Given the description of an element on the screen output the (x, y) to click on. 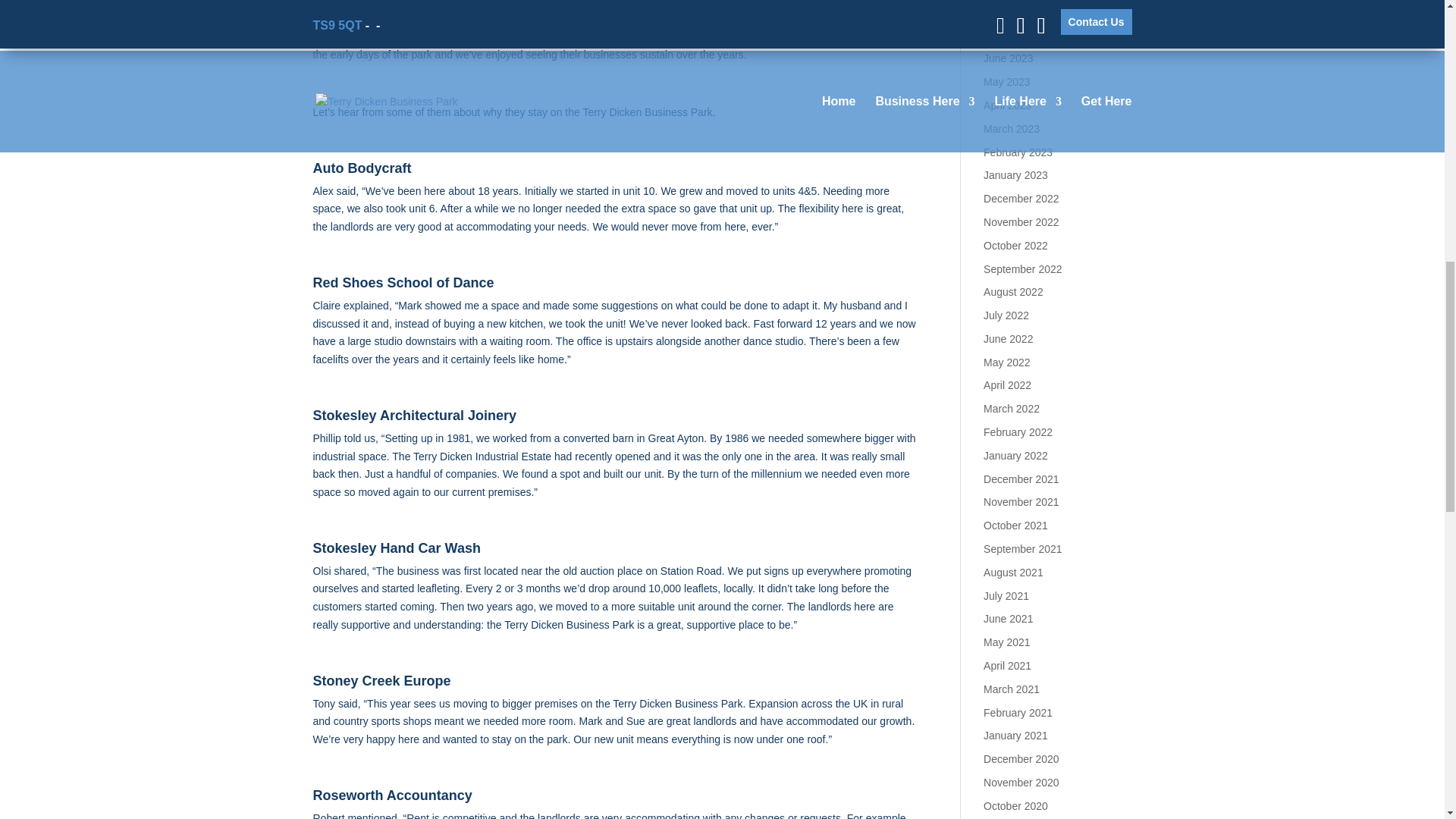
Stokesley Architectural Joinery (414, 415)
Stoney Creek Europe (381, 680)
Auto Bodycraft (361, 168)
Stokesley Hand Car Wash (396, 548)
Roseworth Accountancy (392, 795)
Red Shoes School of Dance (403, 282)
